Given the description of an element on the screen output the (x, y) to click on. 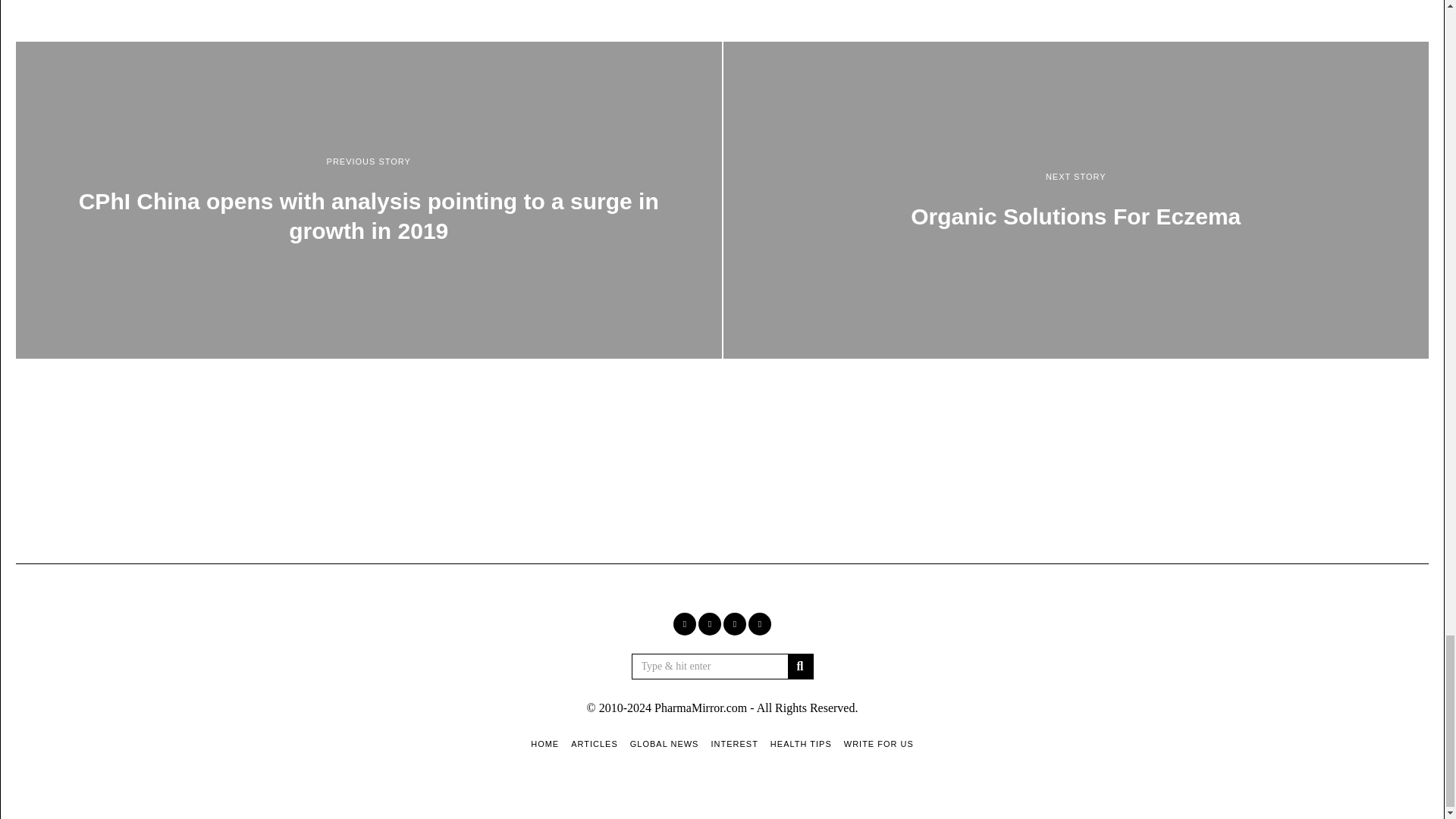
Facebook (683, 623)
LinkedIn (734, 623)
Go (799, 666)
Twitter (709, 623)
Email (759, 623)
